Given the description of an element on the screen output the (x, y) to click on. 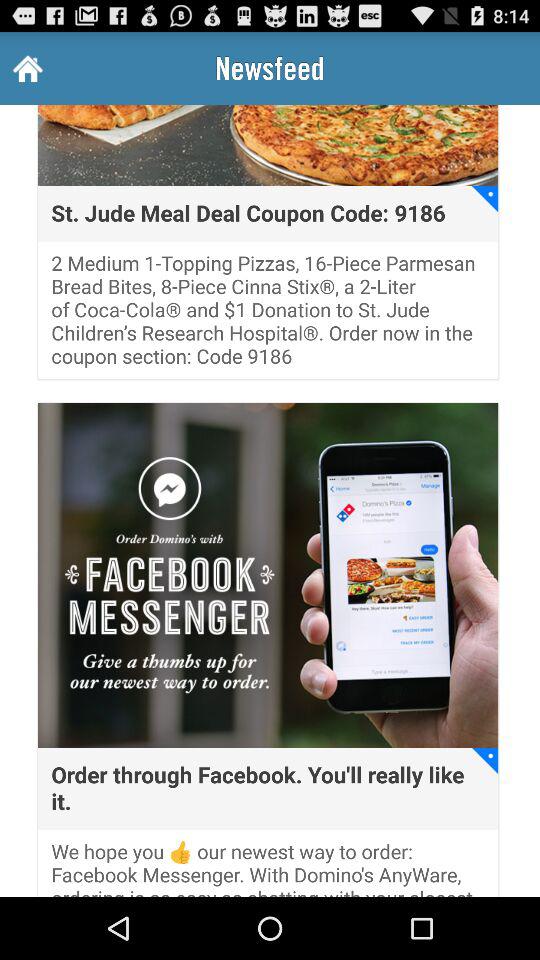
turn off item at the top left corner (26, 68)
